Given the description of an element on the screen output the (x, y) to click on. 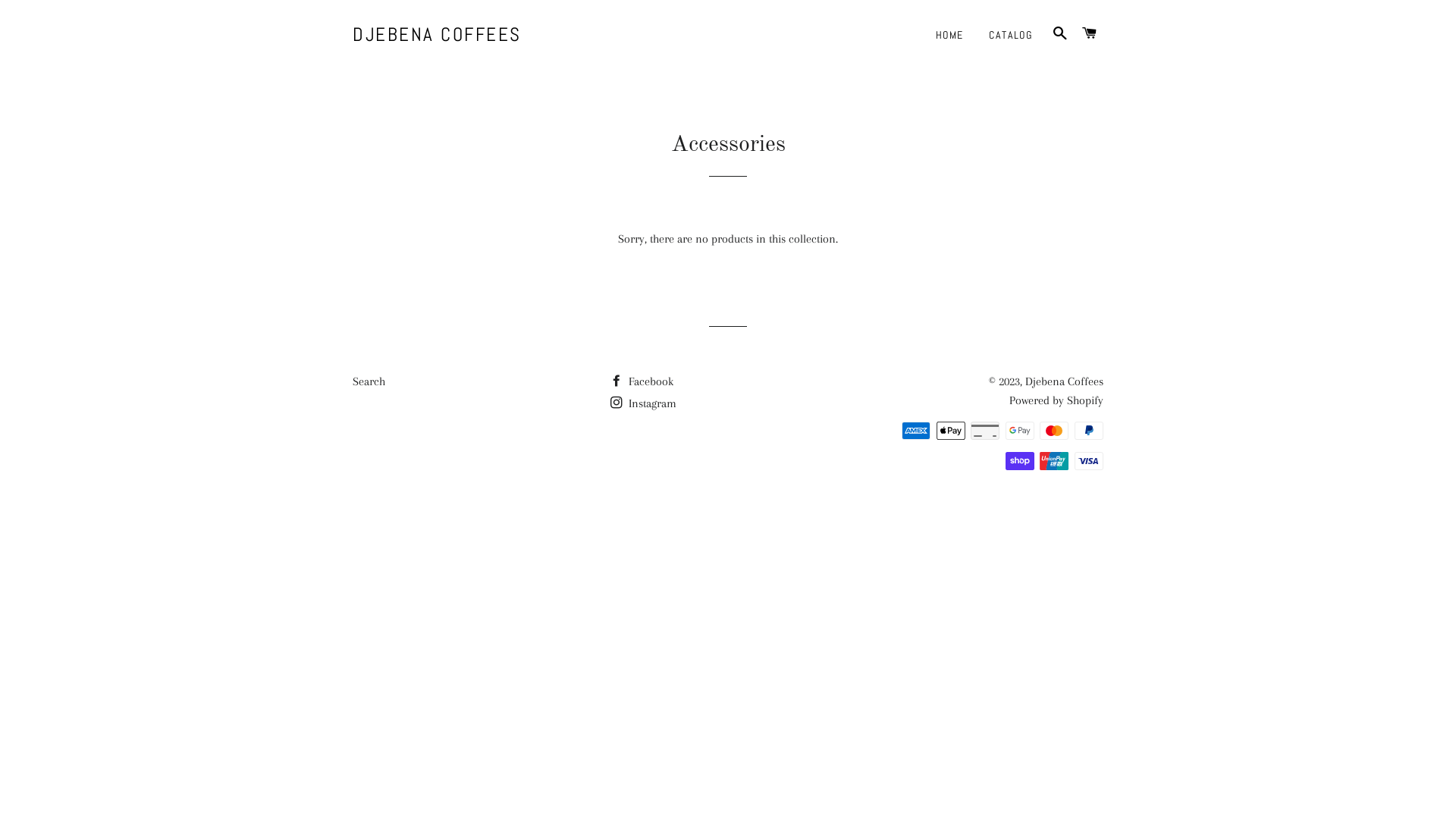
CATALOG Element type: text (1010, 35)
SEARCH Element type: text (1059, 33)
Instagram Element type: text (643, 403)
Search Element type: text (368, 381)
Djebena Coffees Element type: text (1064, 381)
Facebook Element type: text (641, 381)
DJEBENA COFFEES Element type: text (436, 34)
CART Element type: text (1089, 33)
Powered by Shopify Element type: text (1056, 400)
HOME Element type: text (949, 35)
